Given the description of an element on the screen output the (x, y) to click on. 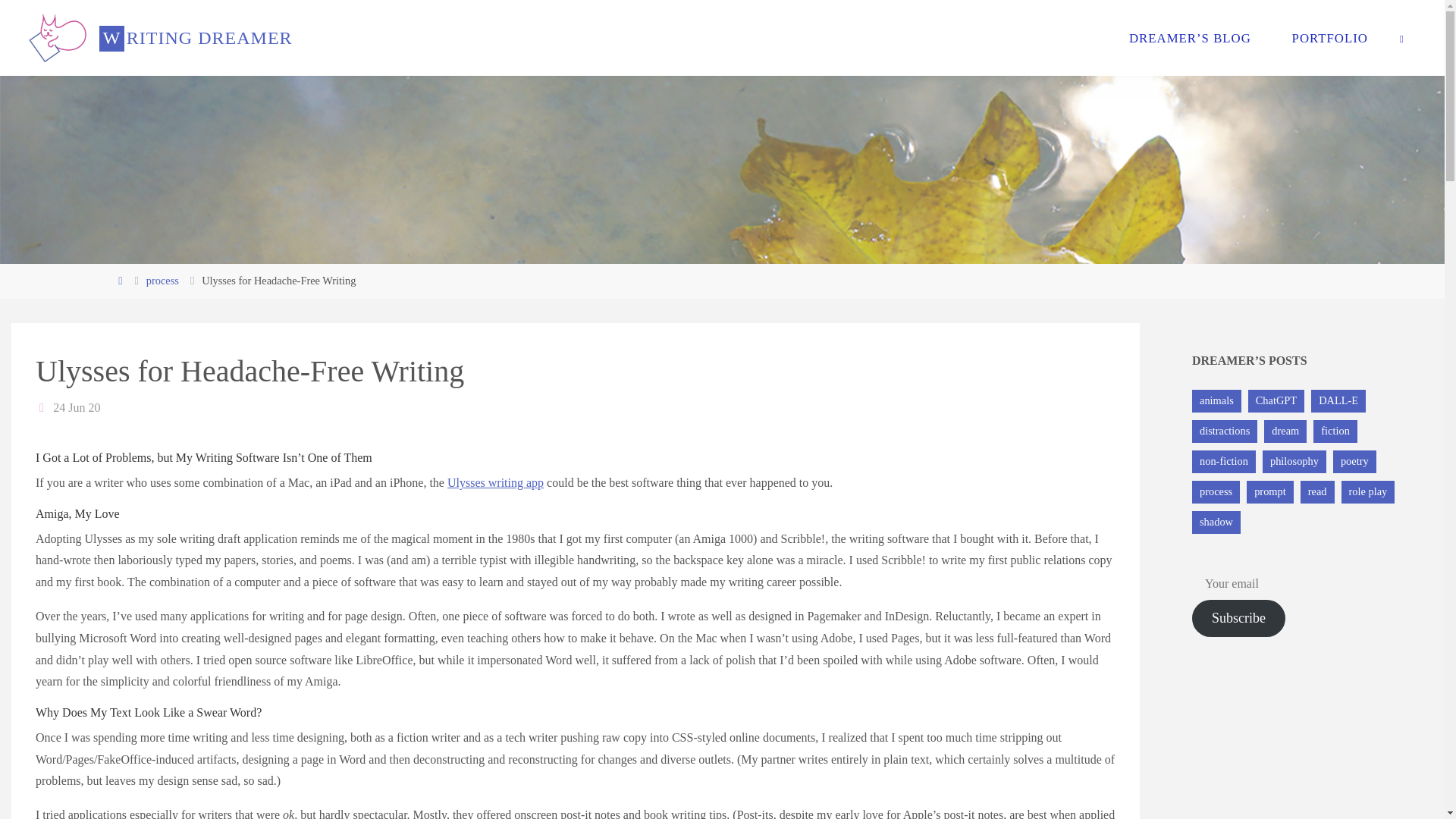
DALL-E (1338, 400)
words and images by mk swanson (195, 37)
PORTFOLIO (1330, 38)
Date (41, 407)
process (1216, 491)
prompt (1270, 491)
fiction (1334, 431)
ChatGPT (1275, 400)
Writing Dreamer (58, 37)
poetry (1354, 461)
